Given the description of an element on the screen output the (x, y) to click on. 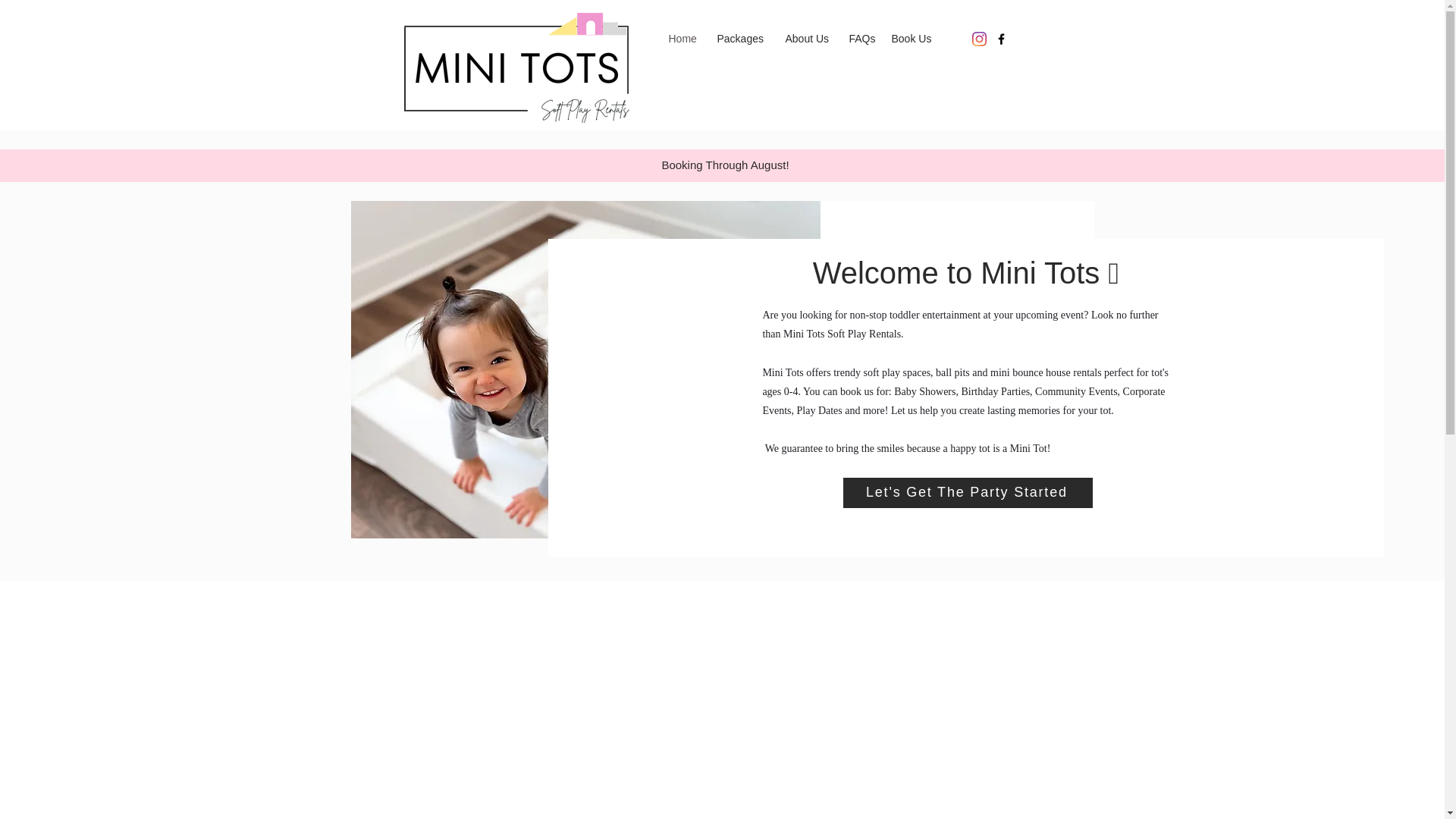
Let's Get The Party Started (968, 492)
Home (685, 39)
Packages (743, 39)
FAQs (862, 39)
About Us (809, 39)
Book Us (912, 39)
